Given the description of an element on the screen output the (x, y) to click on. 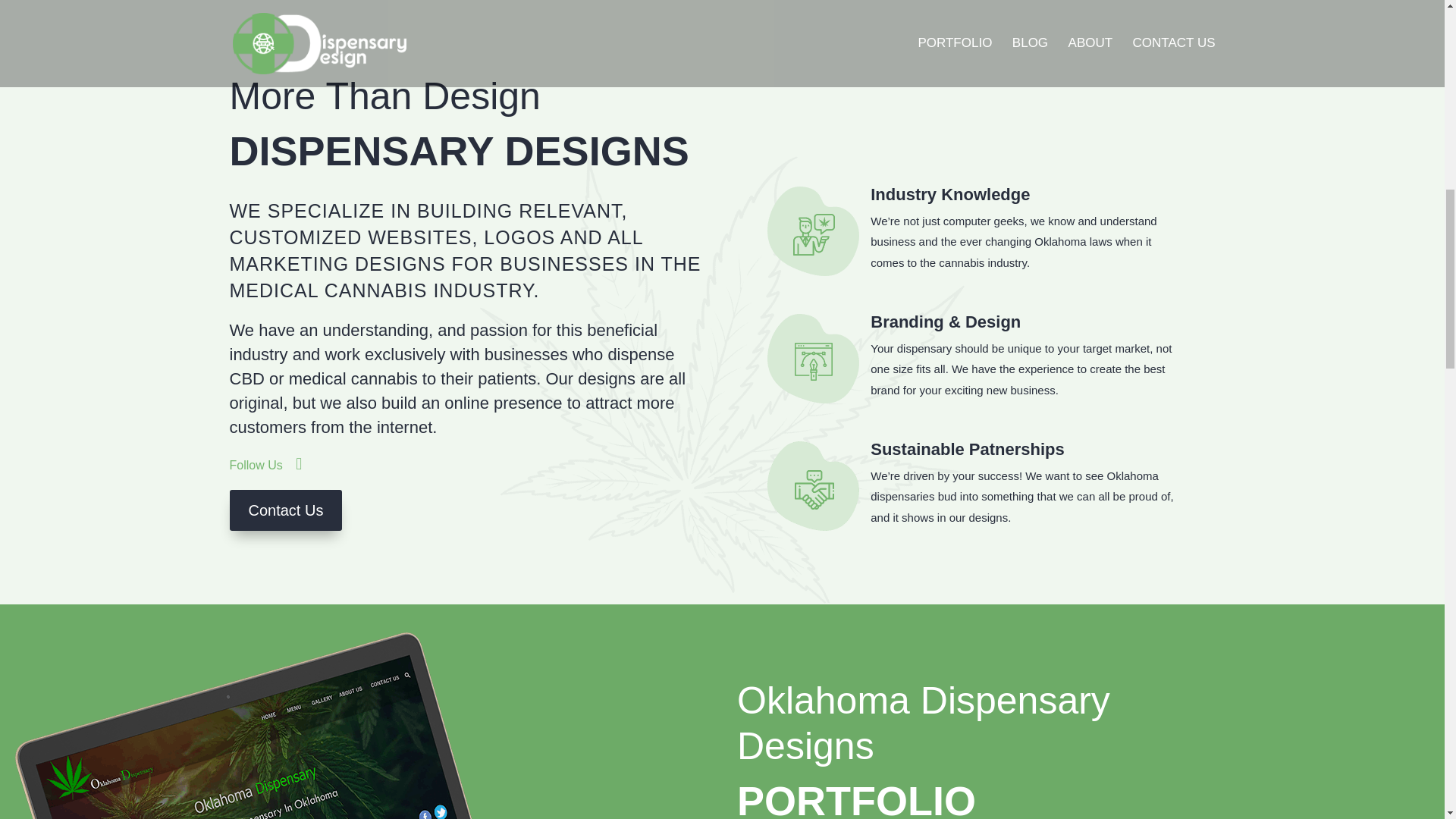
Contact Us (285, 509)
